Given the description of an element on the screen output the (x, y) to click on. 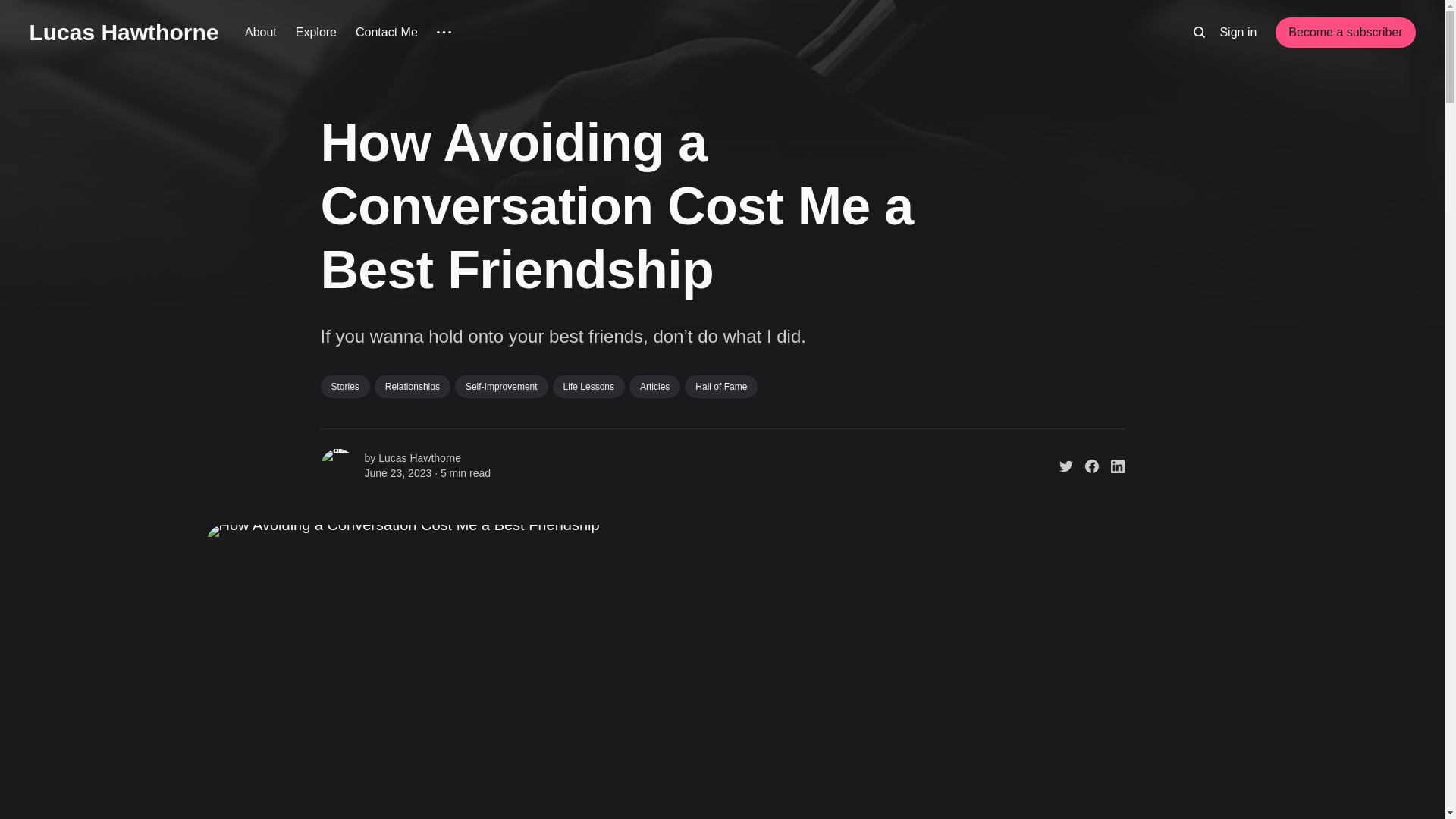
Life Lessons (588, 386)
Stories (344, 386)
Hall of Fame (720, 386)
Articles (653, 386)
About (260, 32)
Lucas Hawthorne (123, 31)
Sign in (1238, 32)
Explore (315, 32)
Contact Me (386, 32)
Become a subscriber (1345, 32)
